Given the description of an element on the screen output the (x, y) to click on. 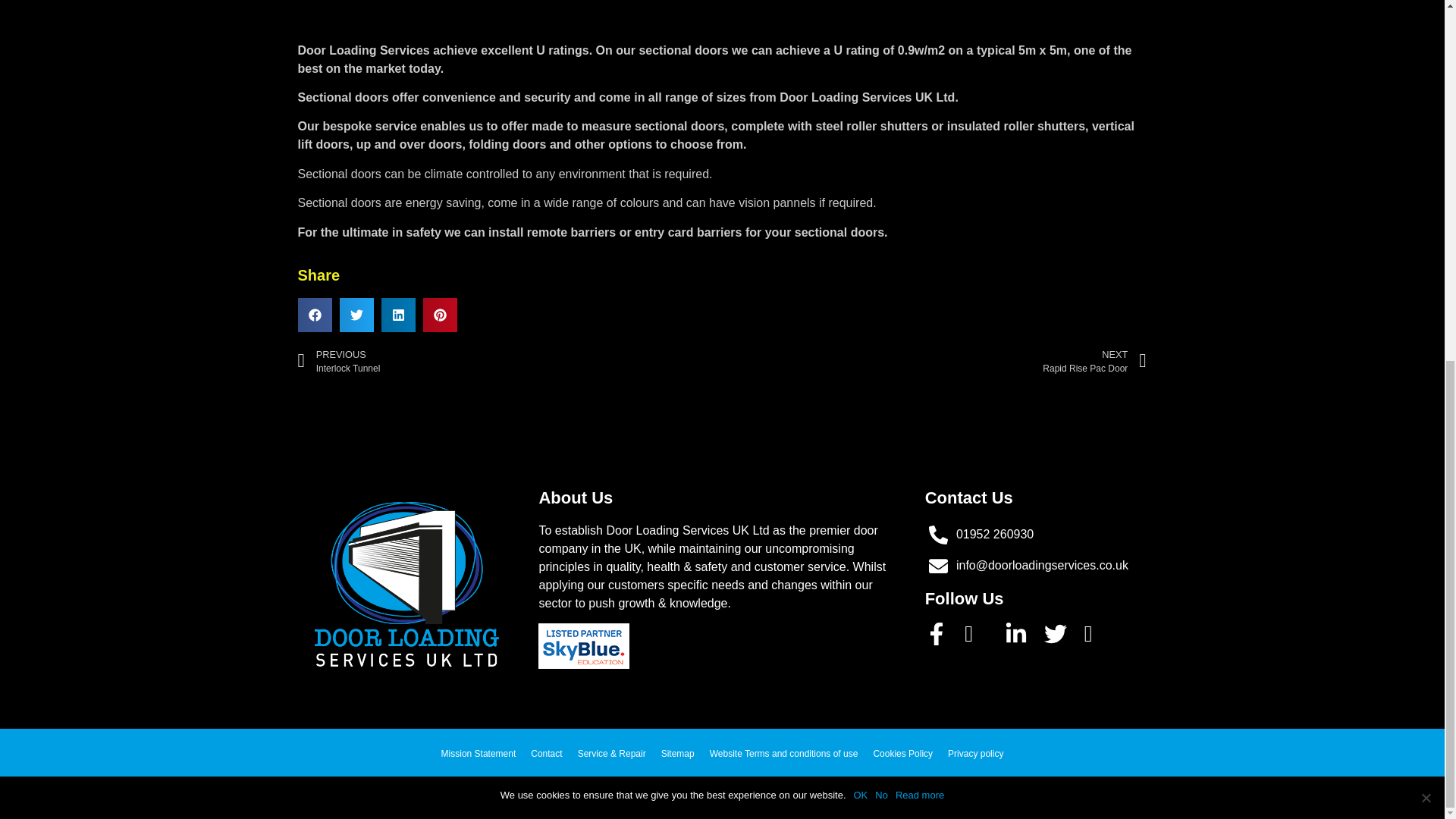
No (1425, 155)
